Given the description of an element on the screen output the (x, y) to click on. 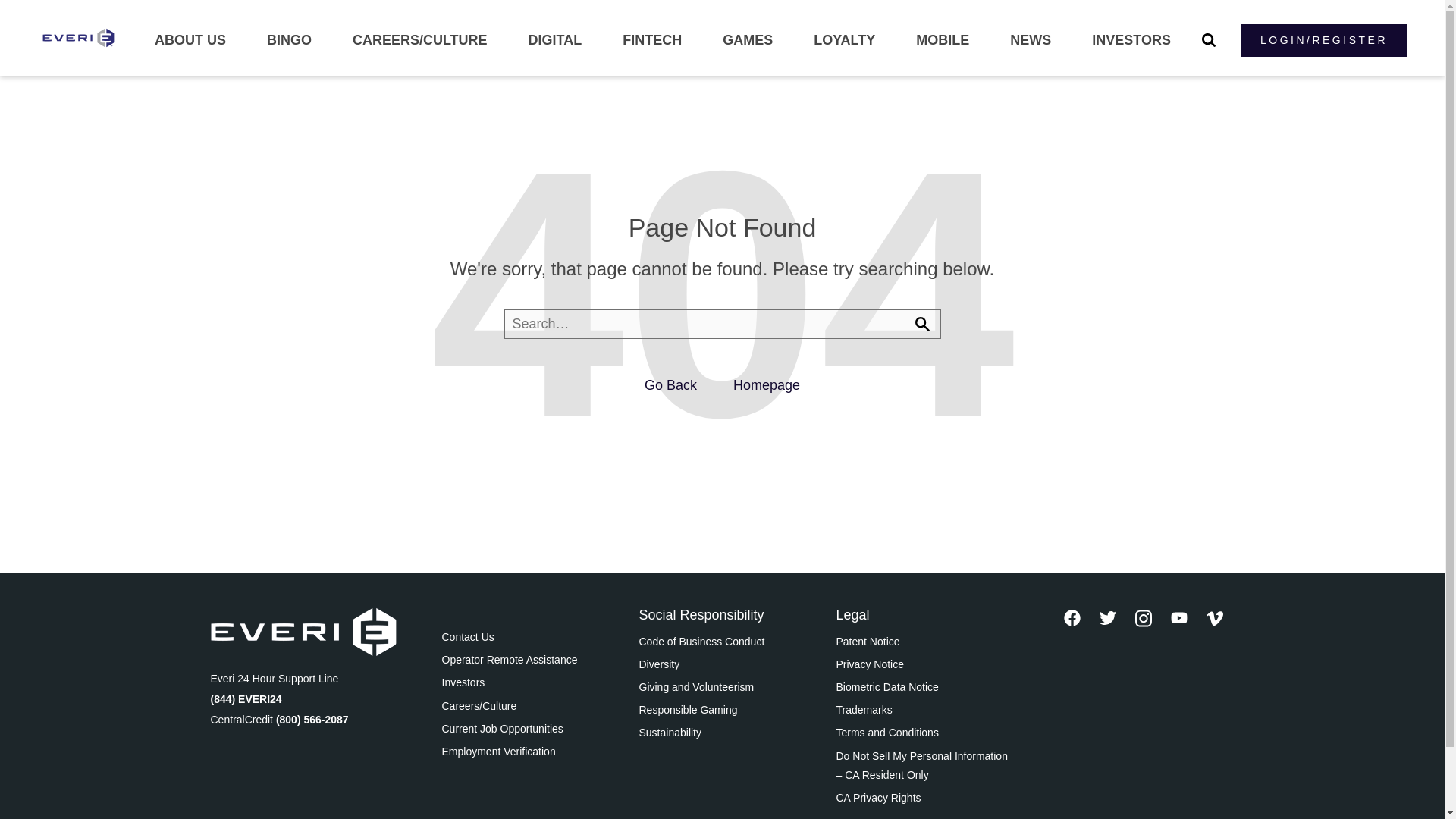
BINGO (288, 40)
Everi (78, 38)
MOBILE (942, 40)
ABOUT US (189, 40)
GAMES (747, 40)
Submit Search (921, 323)
LOYALTY (843, 40)
Submit Search (921, 323)
FINTECH (652, 40)
Everi (303, 630)
